Given the description of an element on the screen output the (x, y) to click on. 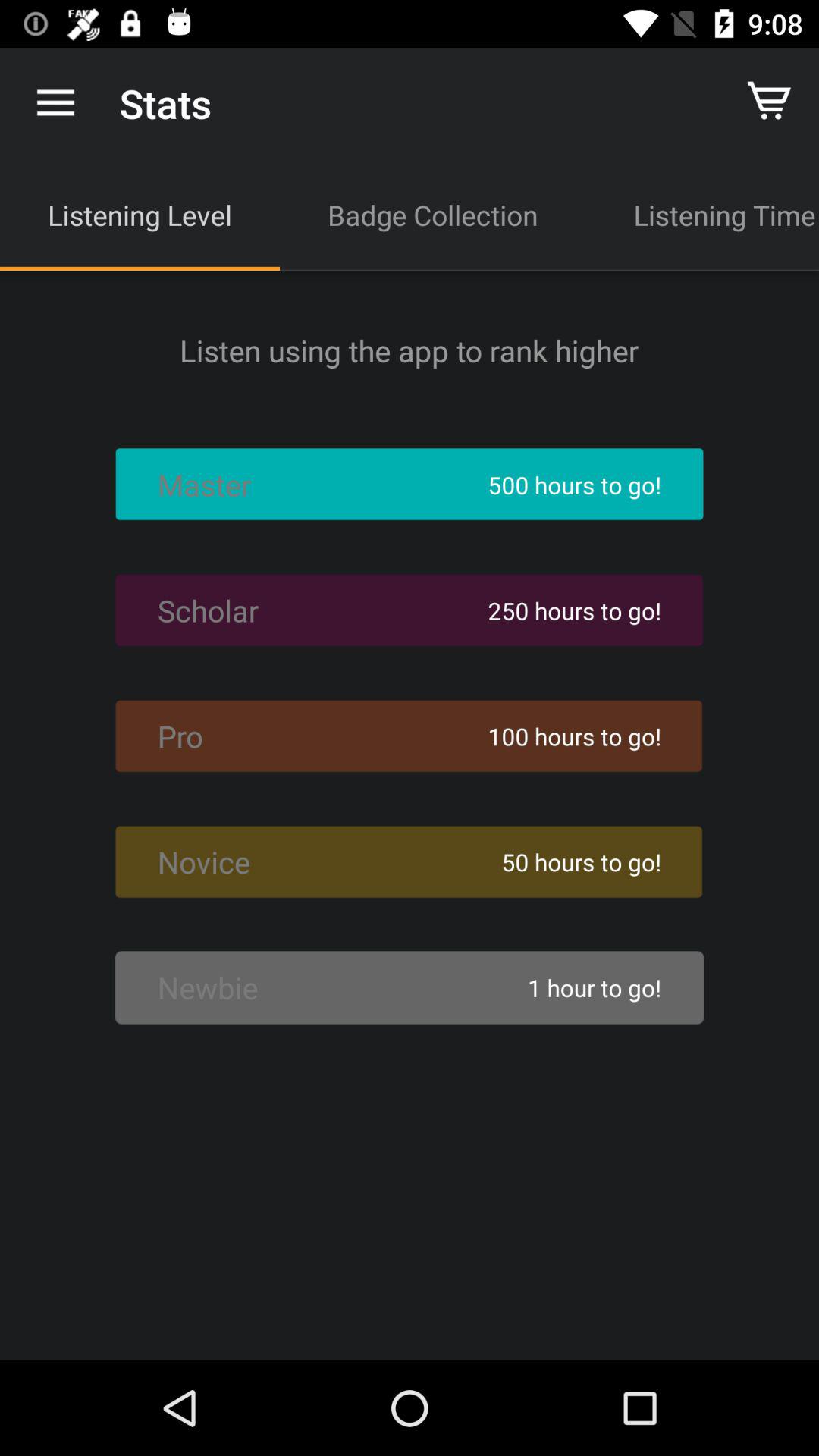
open icon above listen using the icon (139, 214)
